Given the description of an element on the screen output the (x, y) to click on. 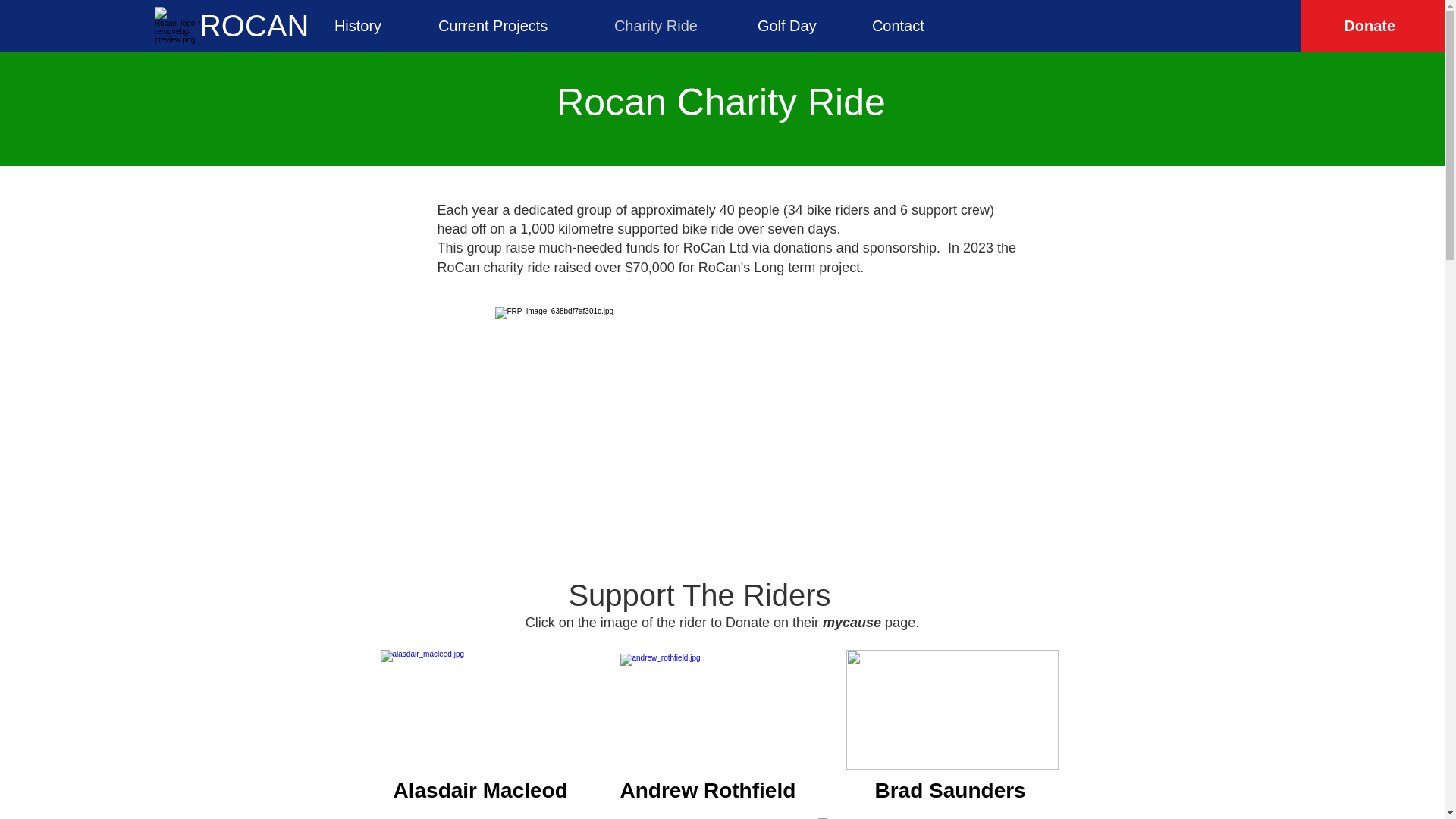
ROCAN (253, 25)
History (374, 25)
Donate (1370, 25)
Current Projects (514, 25)
Contact (917, 25)
Golf Day (802, 25)
Image - Brad Saunders.jpg (951, 709)
Charity Ride (673, 25)
